Given the description of an element on the screen output the (x, y) to click on. 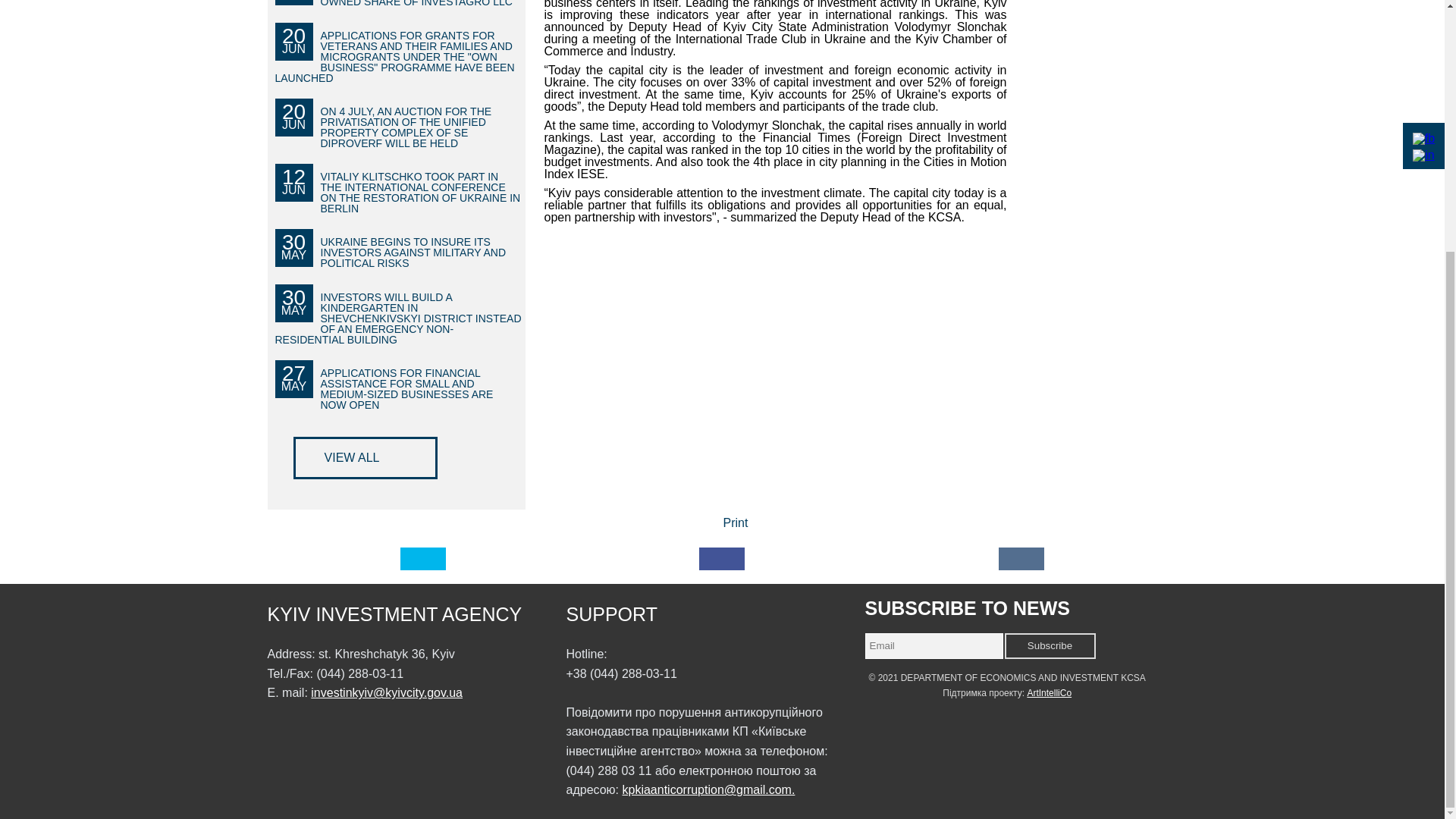
Subscribe (1049, 646)
